Given the description of an element on the screen output the (x, y) to click on. 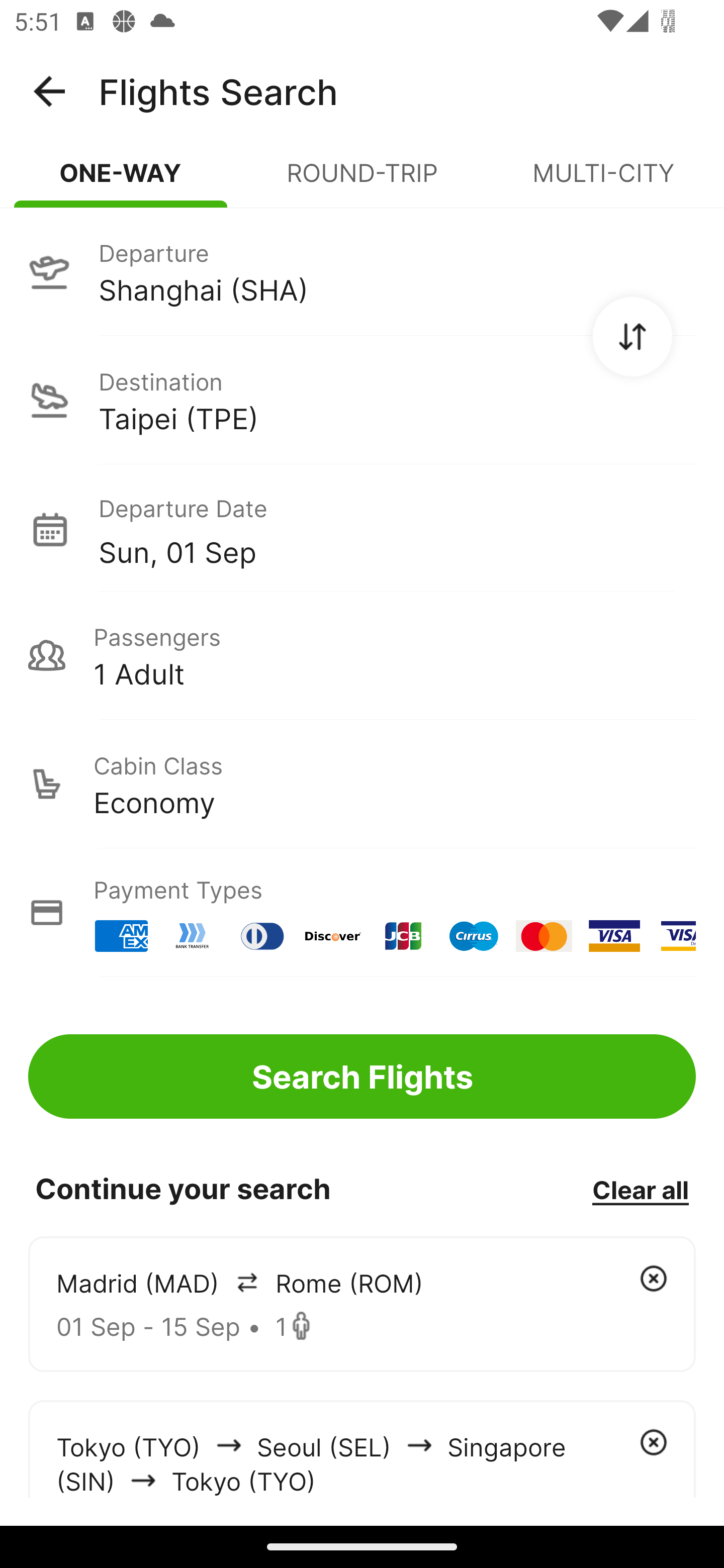
ONE-WAY (120, 180)
ROUND-TRIP (361, 180)
MULTI-CITY (603, 180)
Departure Shanghai (SHA) (362, 270)
Destination Taipei (TPE) (362, 400)
Departure Date Sun, 01 Sep (396, 528)
Passengers 1 Adult (362, 655)
Cabin Class Economy (362, 783)
Payment Types (362, 912)
Search Flights (361, 1075)
Clear all (640, 1189)
